Given the description of an element on the screen output the (x, y) to click on. 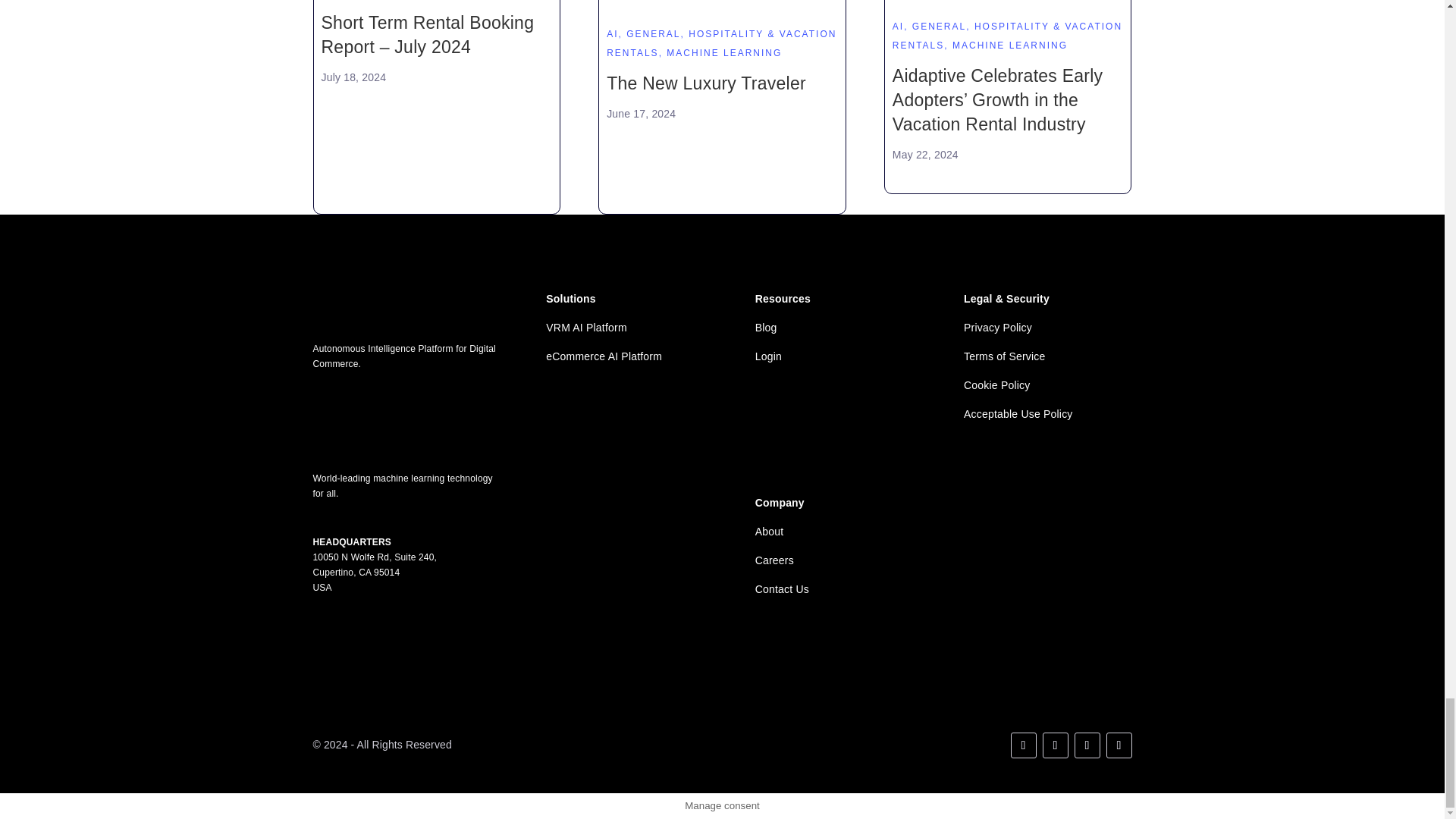
Follow on X (1054, 745)
Group 1390 (406, 421)
Follow on LinkedIn (1022, 745)
Follow on Youtube (1086, 745)
Follow on Facebook (1118, 745)
